Given the description of an element on the screen output the (x, y) to click on. 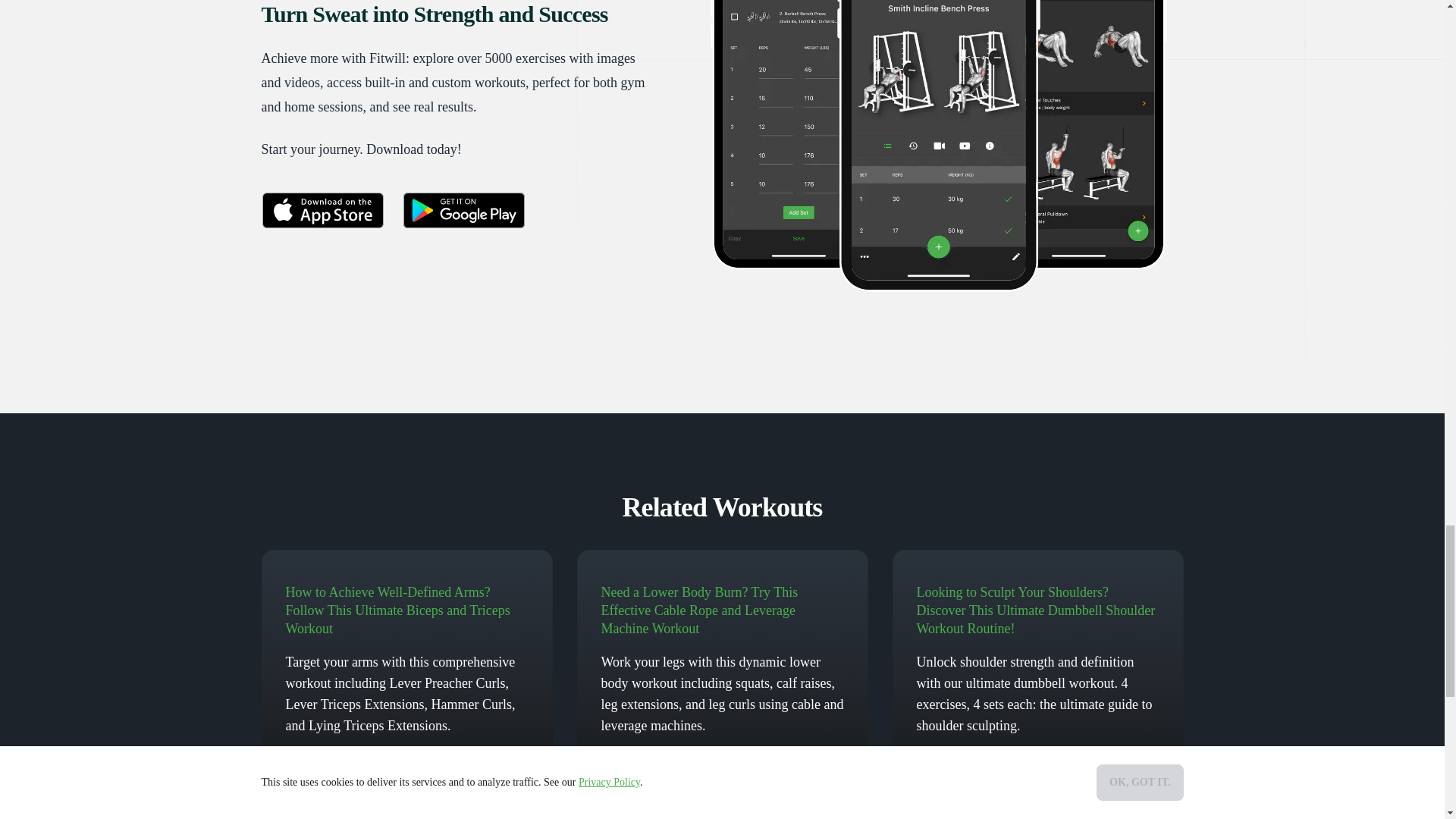
Get Fitwill on Google Play (462, 209)
Download Fitwill on the App Store (322, 209)
